Given the description of an element on the screen output the (x, y) to click on. 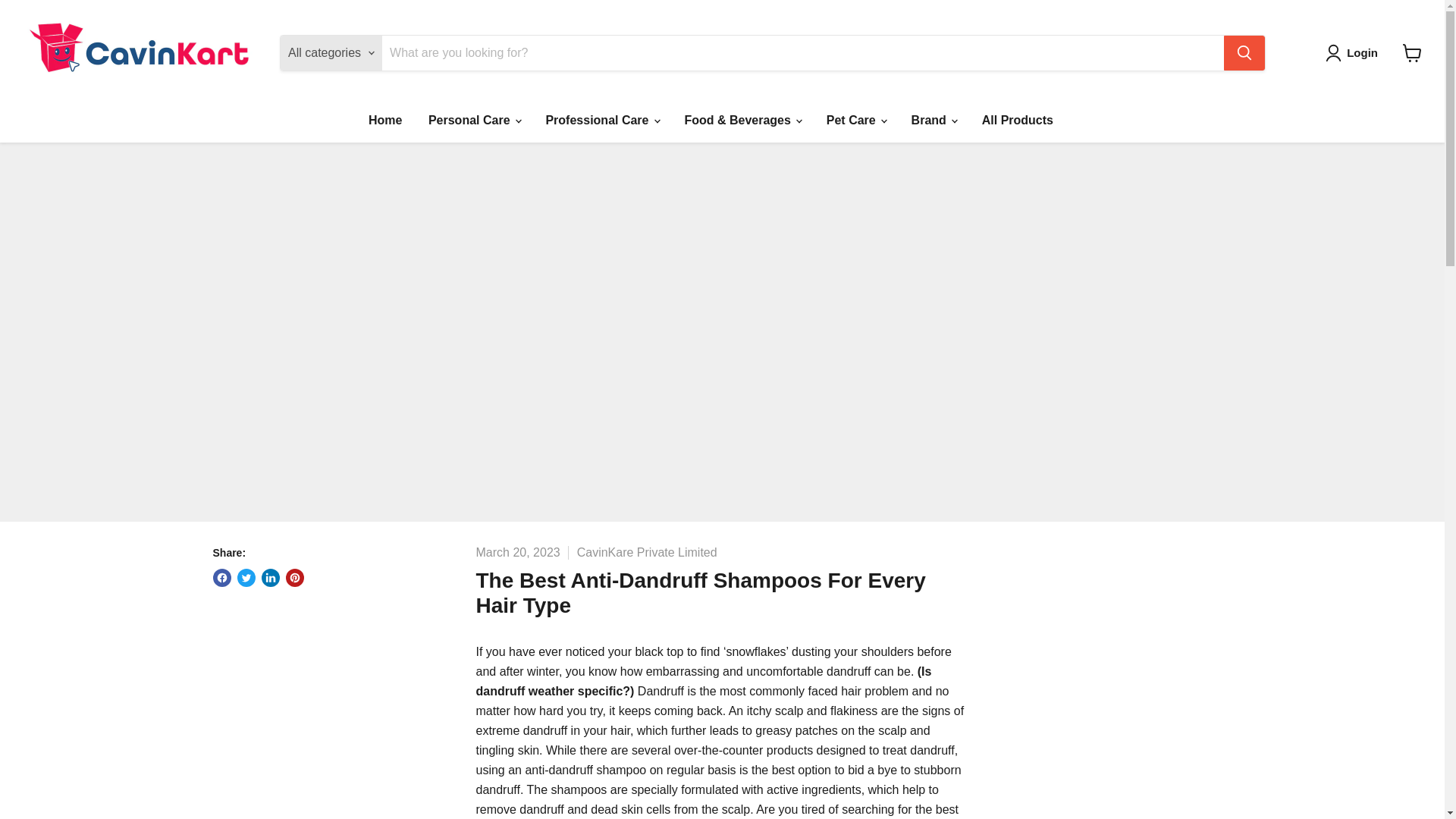
Login (1354, 53)
View cart (1411, 52)
Home (384, 120)
